Given the description of an element on the screen output the (x, y) to click on. 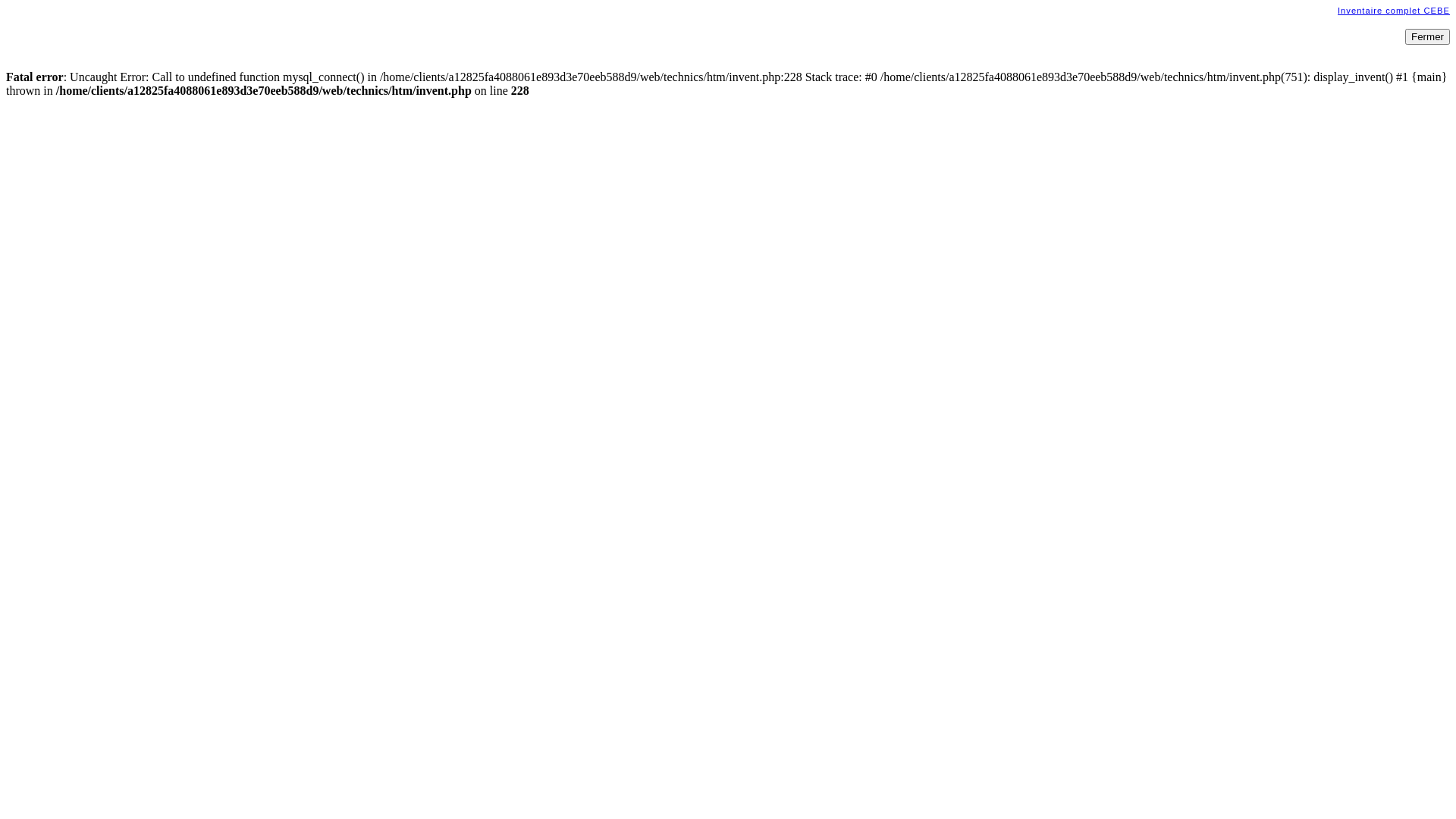
Inventaire complet CEBE Element type: text (1393, 10)
Fermer Element type: text (1427, 36)
